Given the description of an element on the screen output the (x, y) to click on. 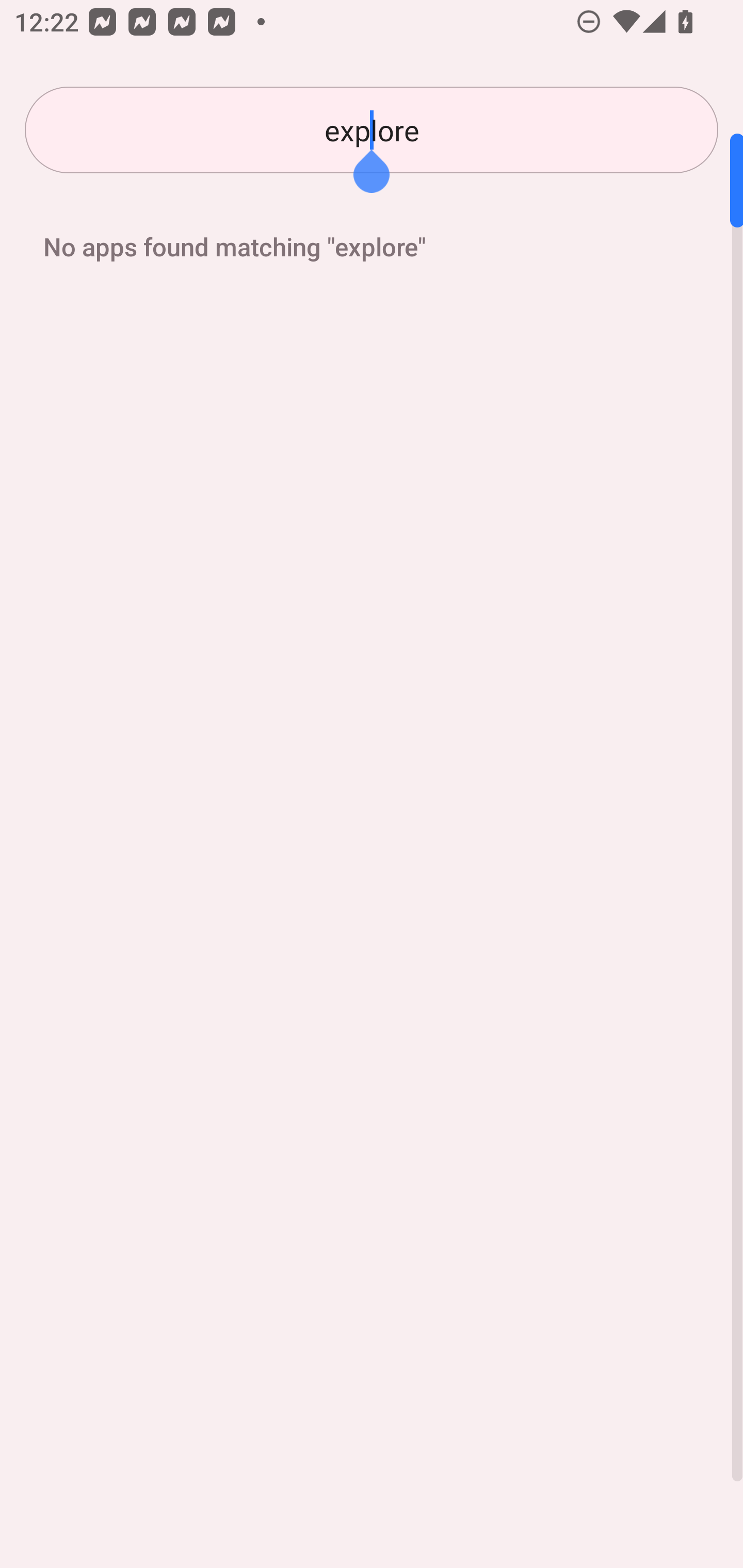
explore (371, 130)
